Given the description of an element on the screen output the (x, y) to click on. 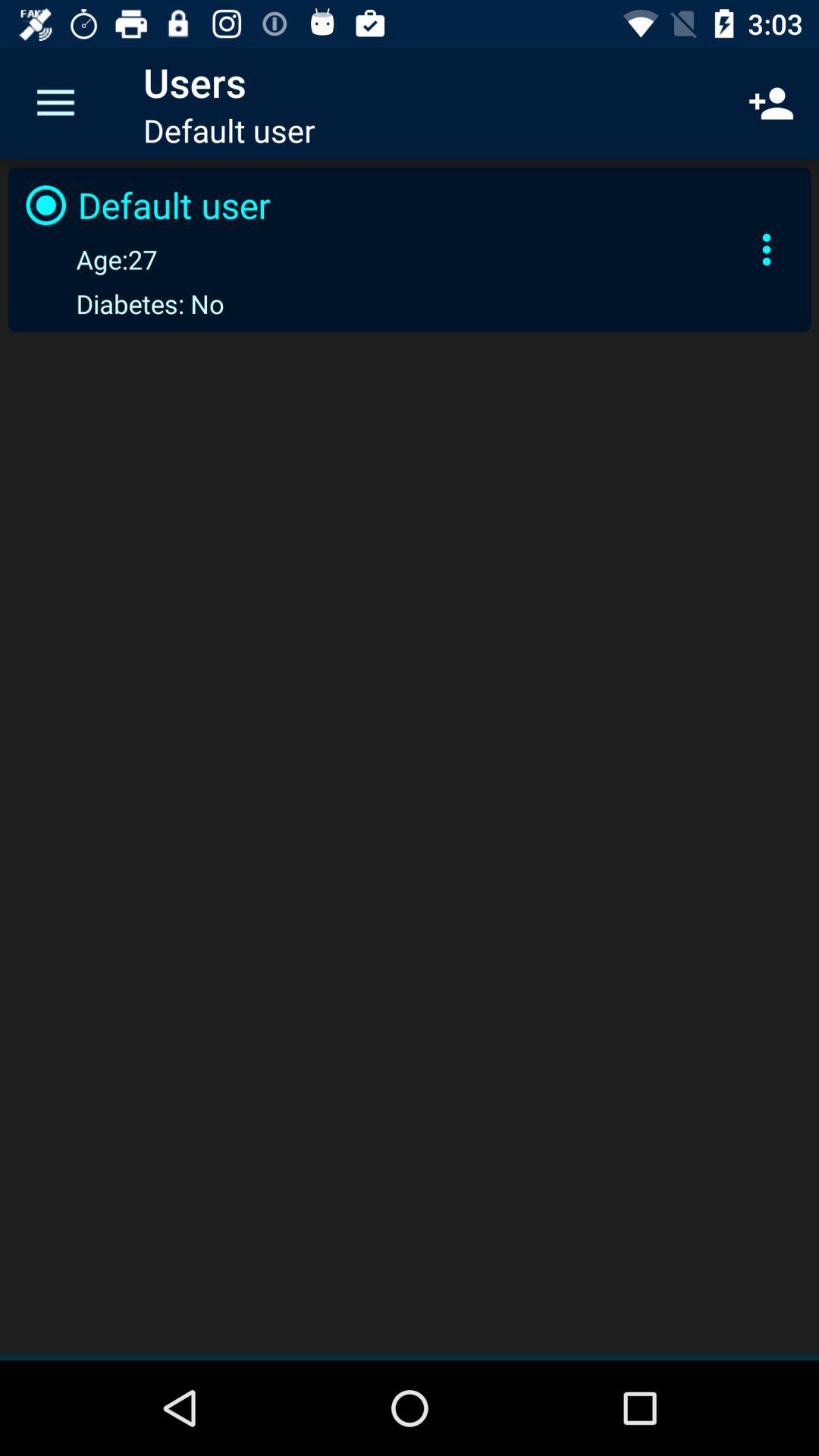
click item below default user (87, 259)
